Given the description of an element on the screen output the (x, y) to click on. 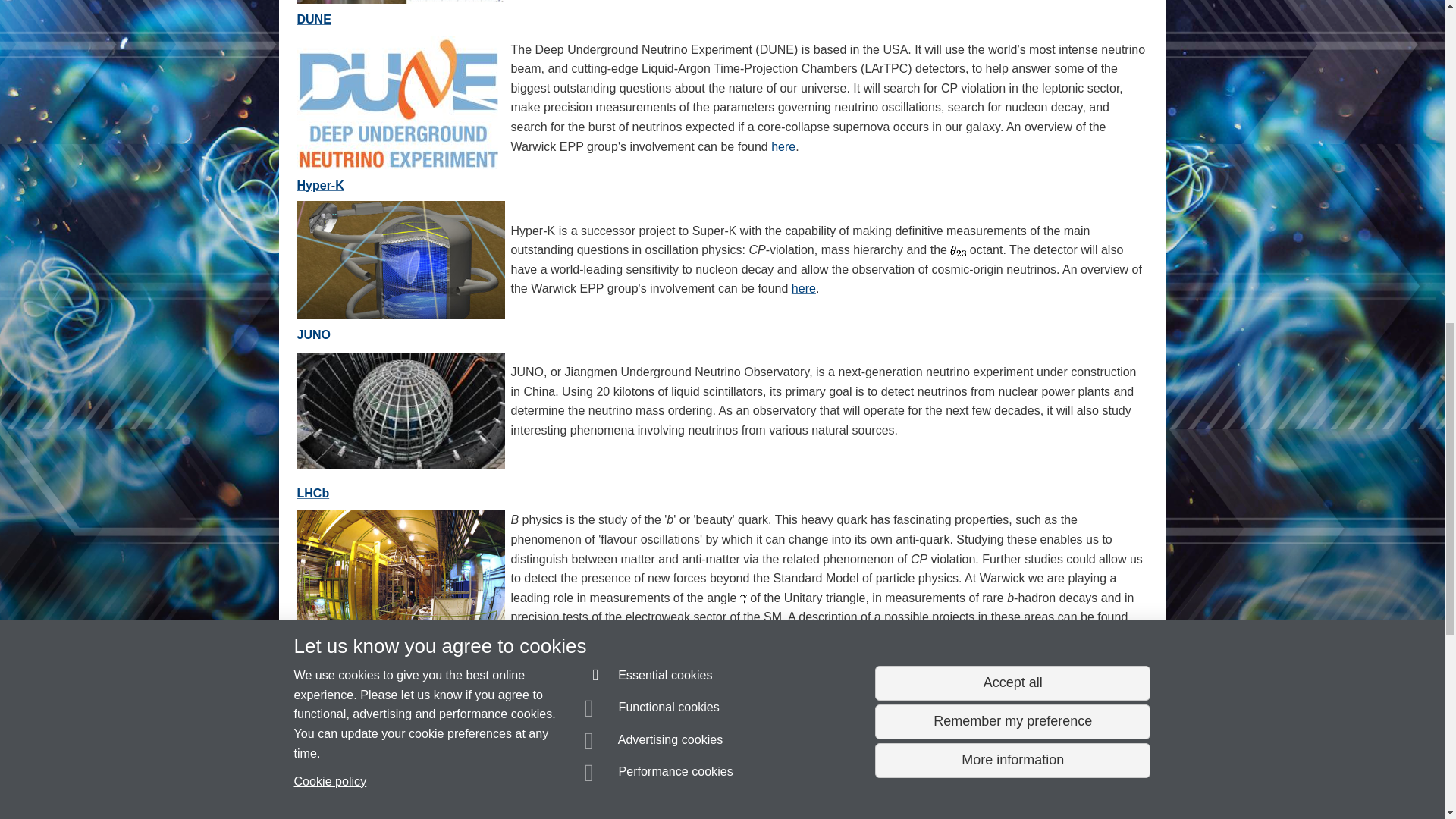
LHCb experiment at the LHC (313, 492)
Hyper-K (320, 185)
The DUNE logo. Image: Fermilab (397, 101)
T2K at Warwick (308, 662)
DUNE (314, 19)
JUNO Detector (401, 409)
